Given the description of an element on the screen output the (x, y) to click on. 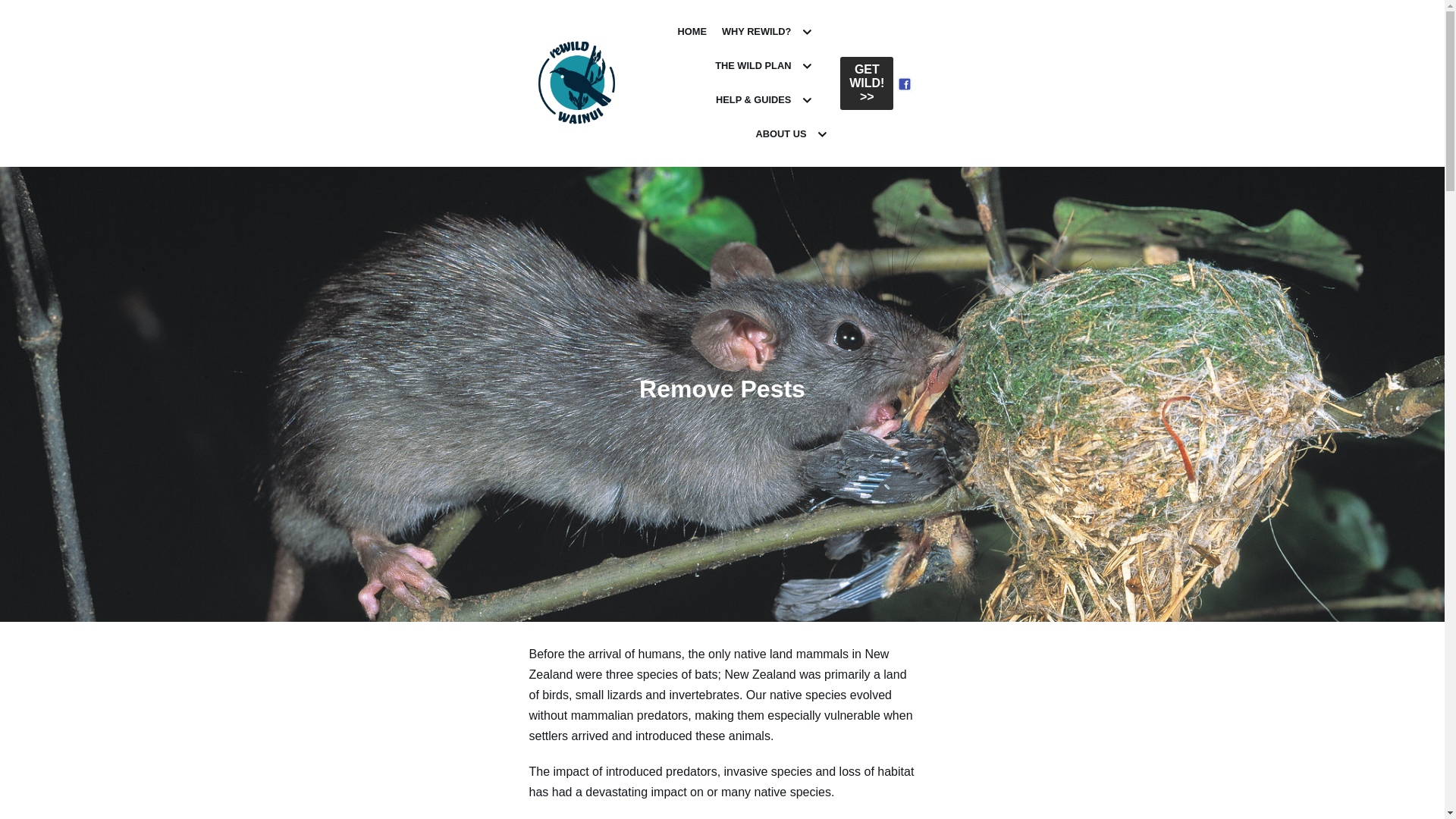
THE WILD PLAN (764, 66)
Skip to content (15, 7)
ABOUT US (793, 134)
reWild Wainui (576, 82)
WHY REWILD? (768, 31)
HOME (692, 31)
